Given the description of an element on the screen output the (x, y) to click on. 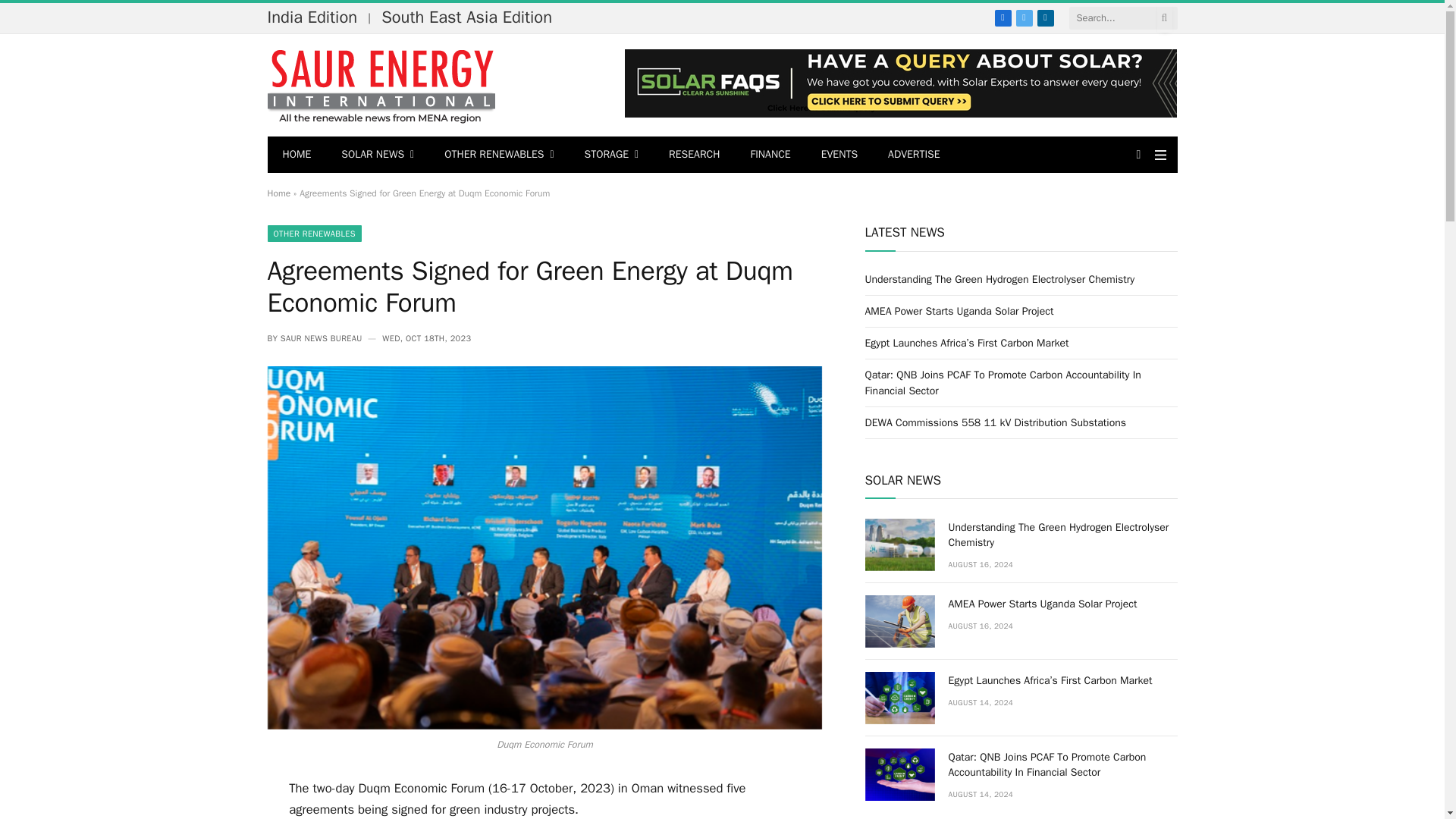
SOLAR NEWS (377, 154)
Facebook (1002, 17)
Twitter (1024, 17)
India Edition (315, 17)
HOME (296, 154)
LinkedIn (1045, 17)
Renewable Energy Stories (380, 85)
OTHER RENEWABLES (499, 154)
South East Asia Edition (470, 17)
